Given the description of an element on the screen output the (x, y) to click on. 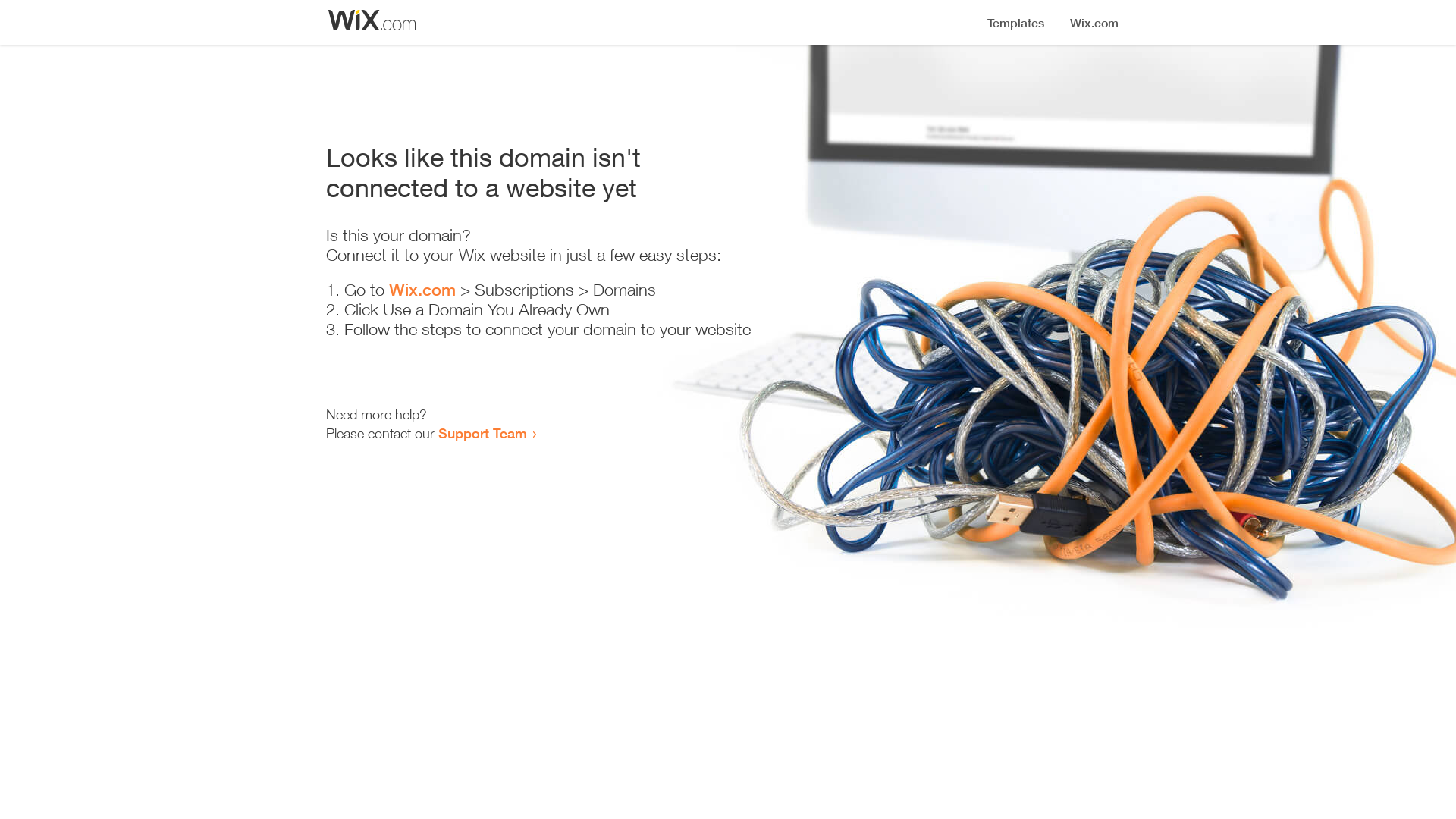
Wix.com Element type: text (422, 289)
Support Team Element type: text (482, 432)
